Given the description of an element on the screen output the (x, y) to click on. 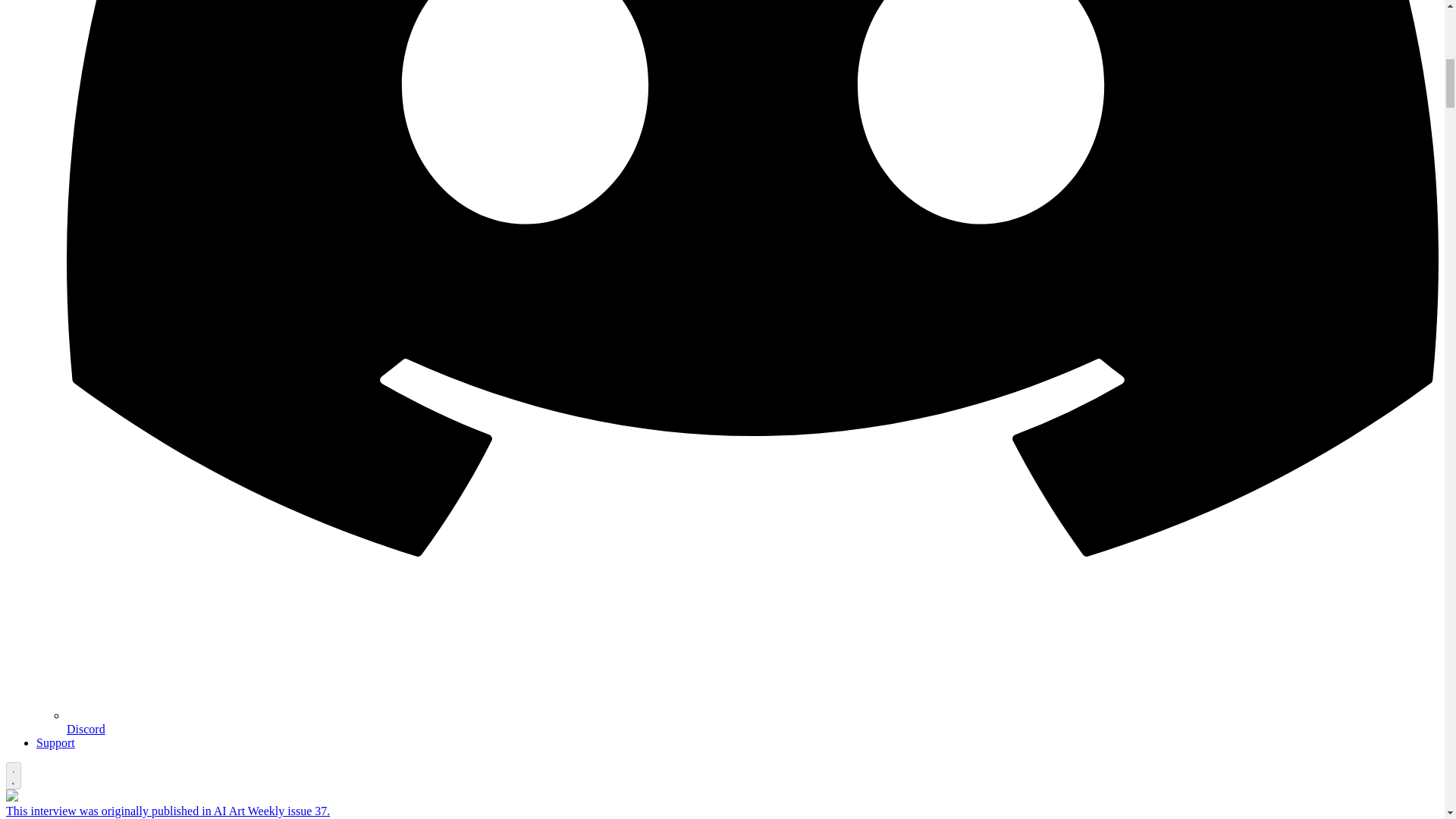
Support (55, 742)
